Given the description of an element on the screen output the (x, y) to click on. 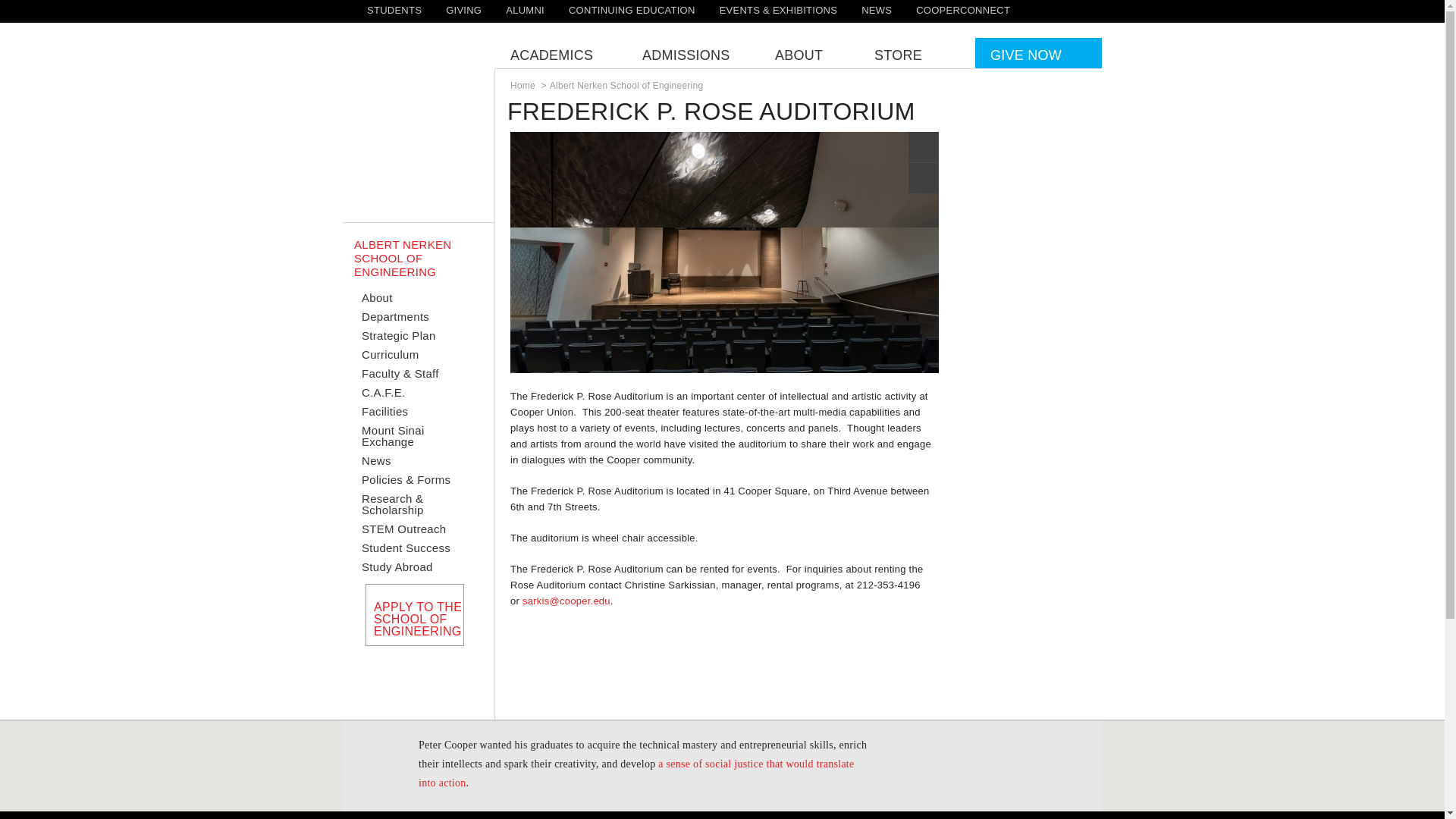
CONTINUING EDUCATION (632, 9)
COOPERCONNECT (962, 9)
STUDENTS (394, 9)
GIVING (463, 9)
ALUMNI (524, 9)
NEWS (876, 9)
